Given the description of an element on the screen output the (x, y) to click on. 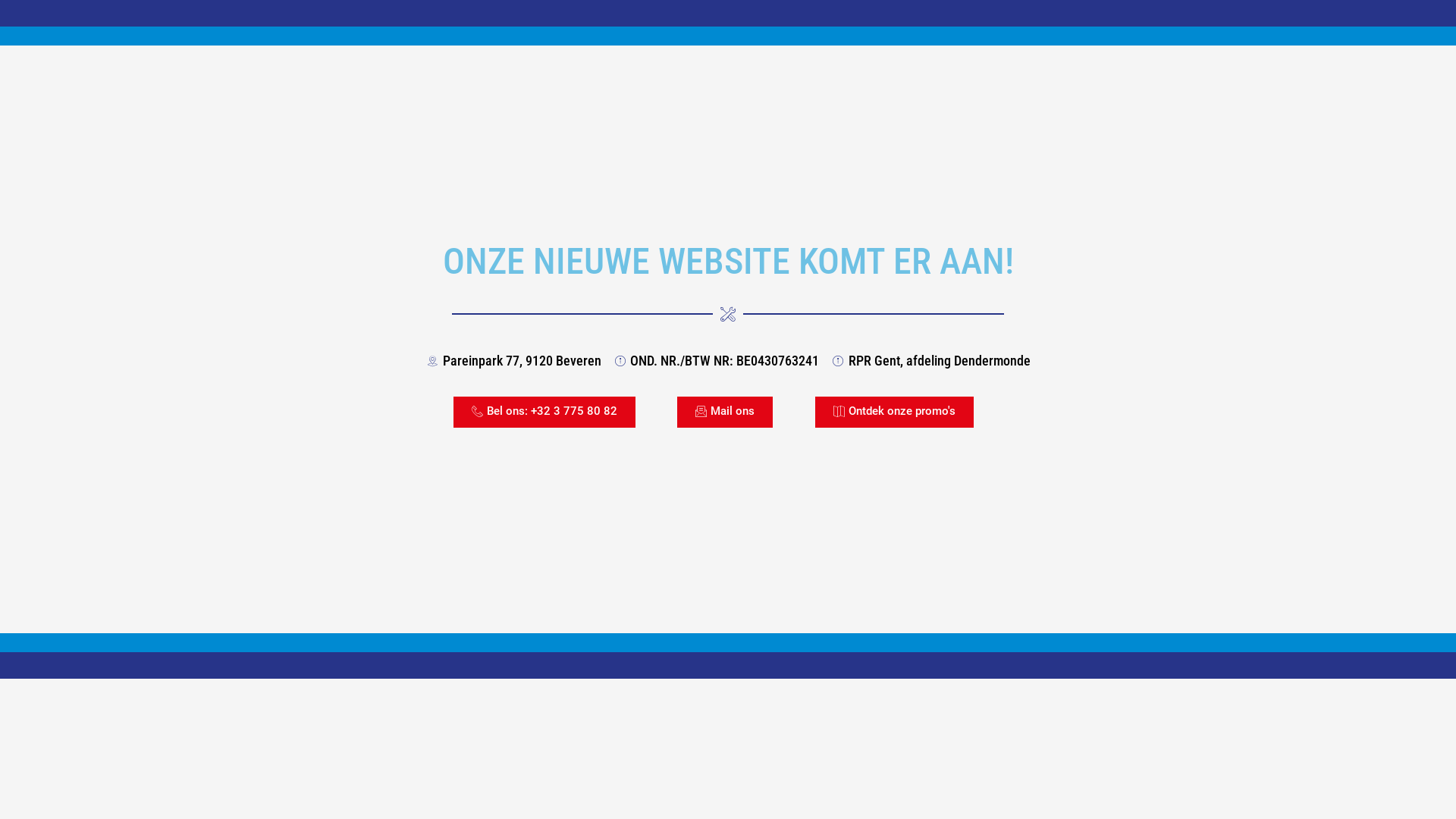
Mail ons Element type: text (724, 411)
Pareinpark 77, 9120 Beveren Element type: text (513, 360)
Ontdek onze promo's Element type: text (894, 411)
Bel ons: +32 3 775 80 82 Element type: text (544, 411)
